Given the description of an element on the screen output the (x, y) to click on. 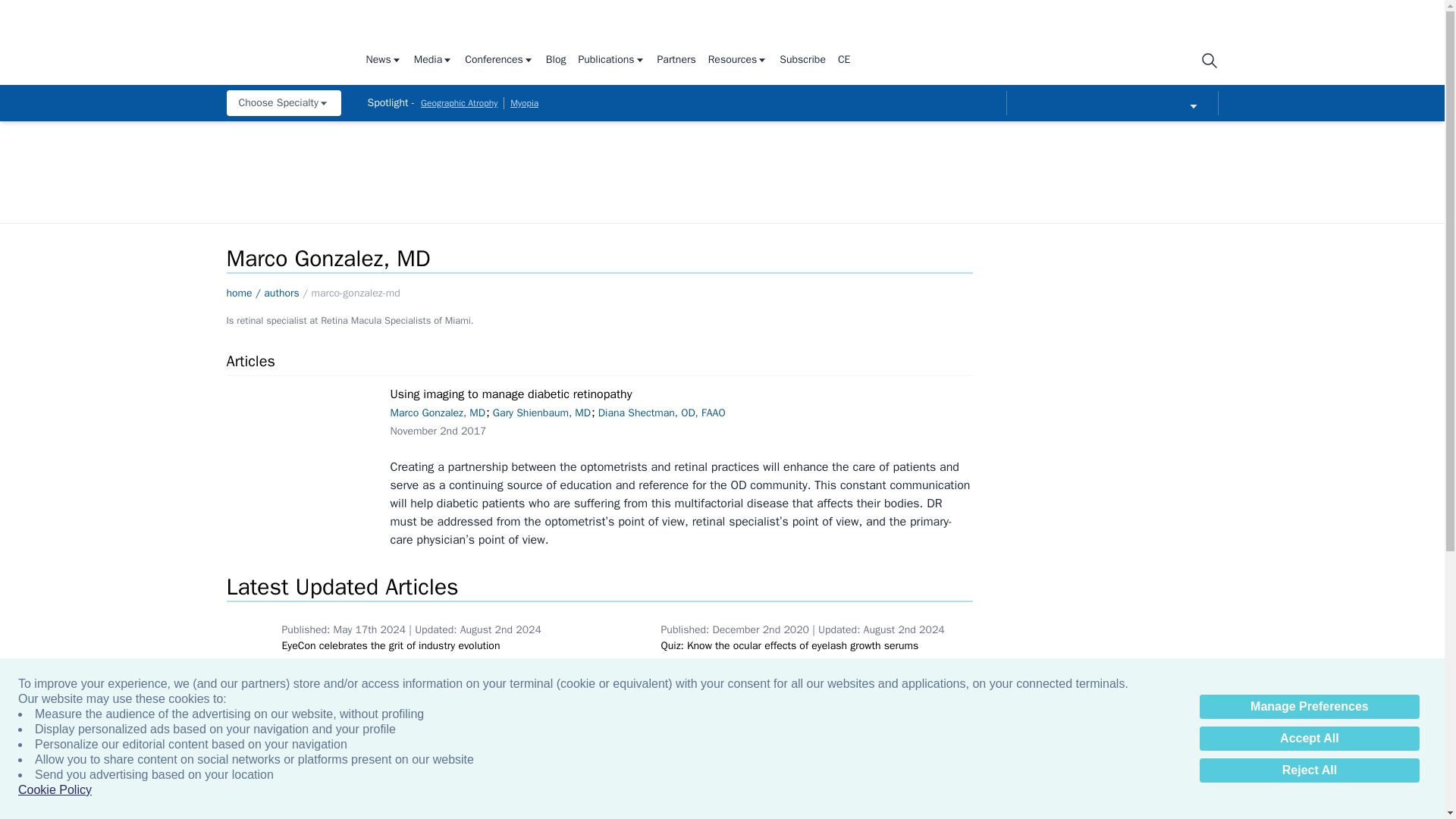
Blog (556, 60)
Manage Preferences (1309, 706)
Media (432, 60)
Choose Specialty (282, 103)
Quiz: Know the ocular effects of eyelash growth serums (629, 636)
Resources (737, 60)
Accept All (1309, 738)
EyeCon celebrates the grit of industry evolution (250, 636)
Publications (611, 60)
News (383, 60)
Partners (676, 60)
Subscribe (801, 60)
Conferences (499, 60)
Reject All (1309, 769)
